Given the description of an element on the screen output the (x, y) to click on. 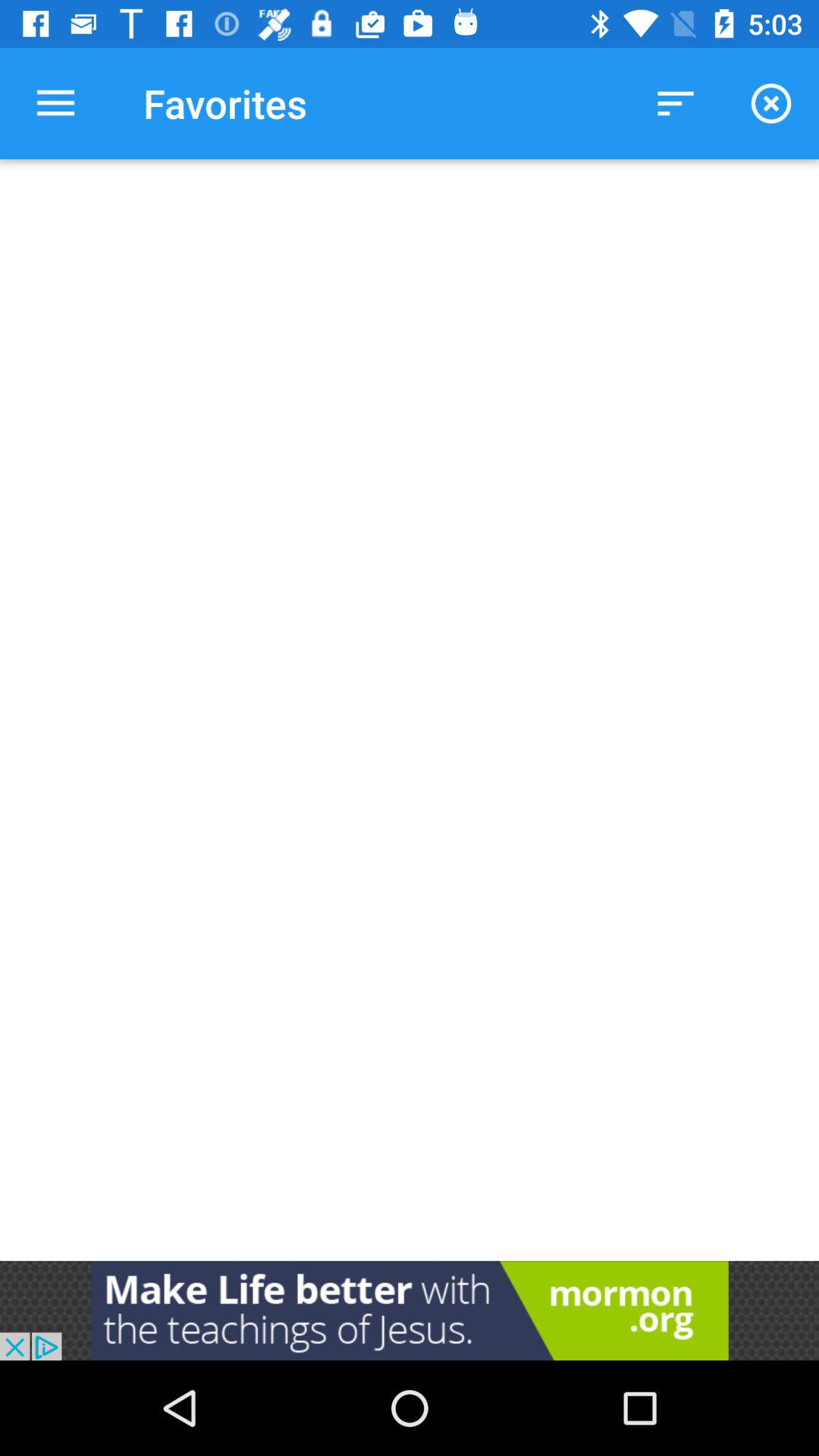
add the option (409, 1310)
